Given the description of an element on the screen output the (x, y) to click on. 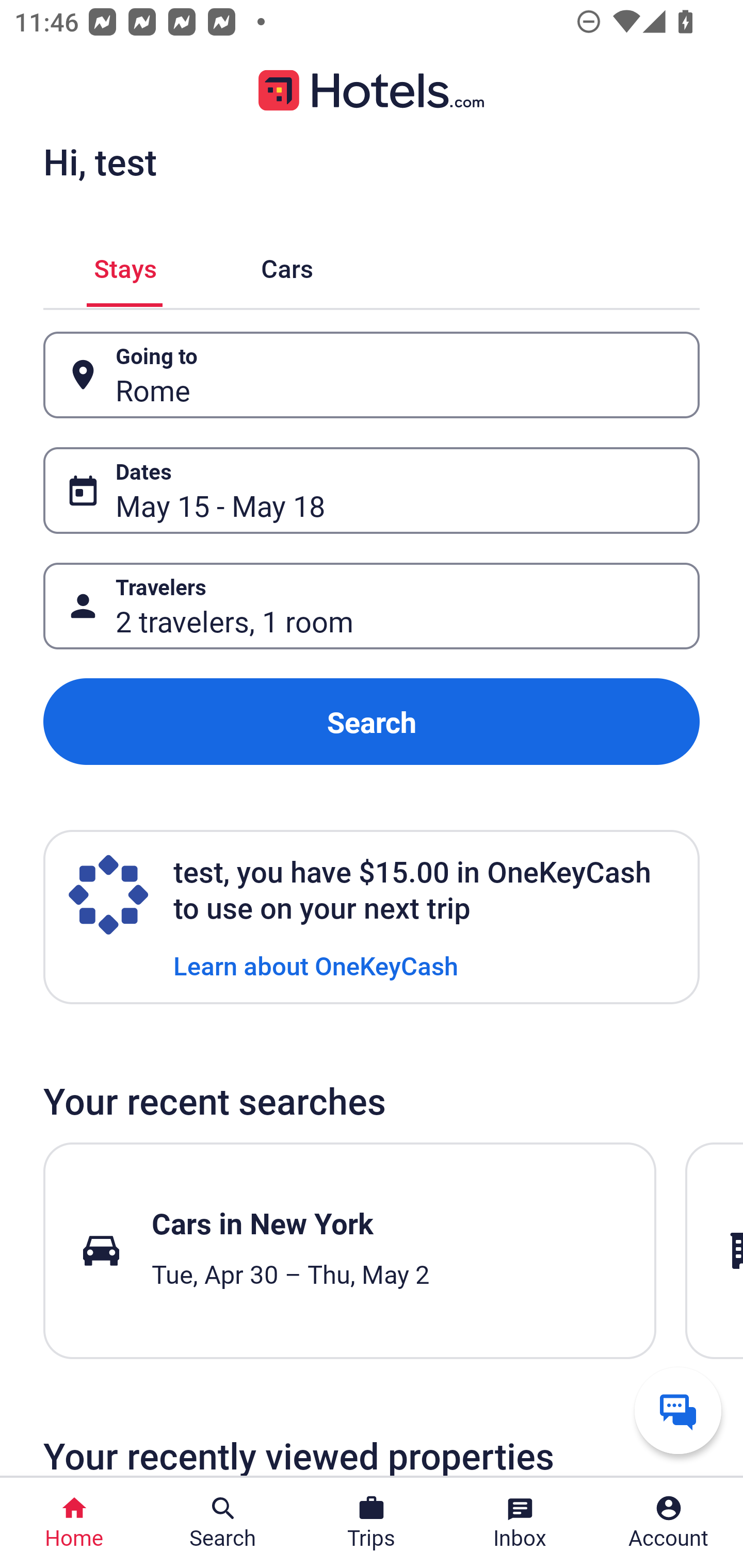
Hi, test (99, 161)
Cars (286, 265)
Going to Button Rome (371, 375)
Dates Button May 15 - May 18 (371, 489)
Travelers Button 2 travelers, 1 room (371, 605)
Search (371, 721)
Learn about OneKeyCash Learn about OneKeyCash Link (315, 964)
Get help from a virtual agent (677, 1410)
Search Search Button (222, 1522)
Trips Trips Button (371, 1522)
Inbox Inbox Button (519, 1522)
Account Profile. Button (668, 1522)
